Given the description of an element on the screen output the (x, y) to click on. 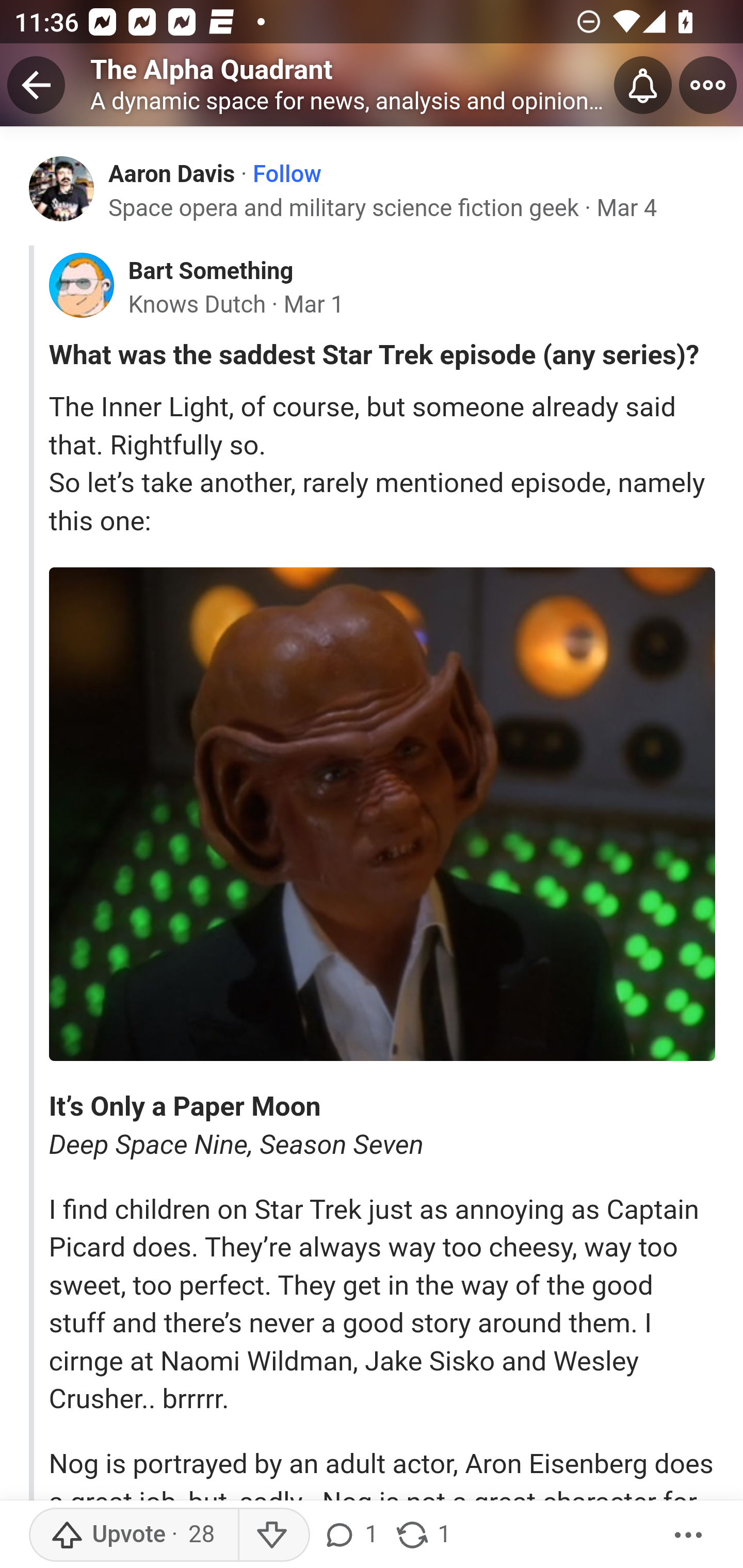
The Alpha Quadrant (211, 68)
Profile photo for Aaron Davis (61, 188)
Aaron Davis (172, 173)
Follow (287, 174)
Profile photo for Bart Something (80, 285)
Bart Something (210, 271)
main-qimg-0a9453f55125d56c38dfed03be596402 (381, 814)
Upvote (133, 1534)
Downvote (273, 1534)
1 comment (353, 1534)
1 share (421, 1534)
More (688, 1534)
